Given the description of an element on the screen output the (x, y) to click on. 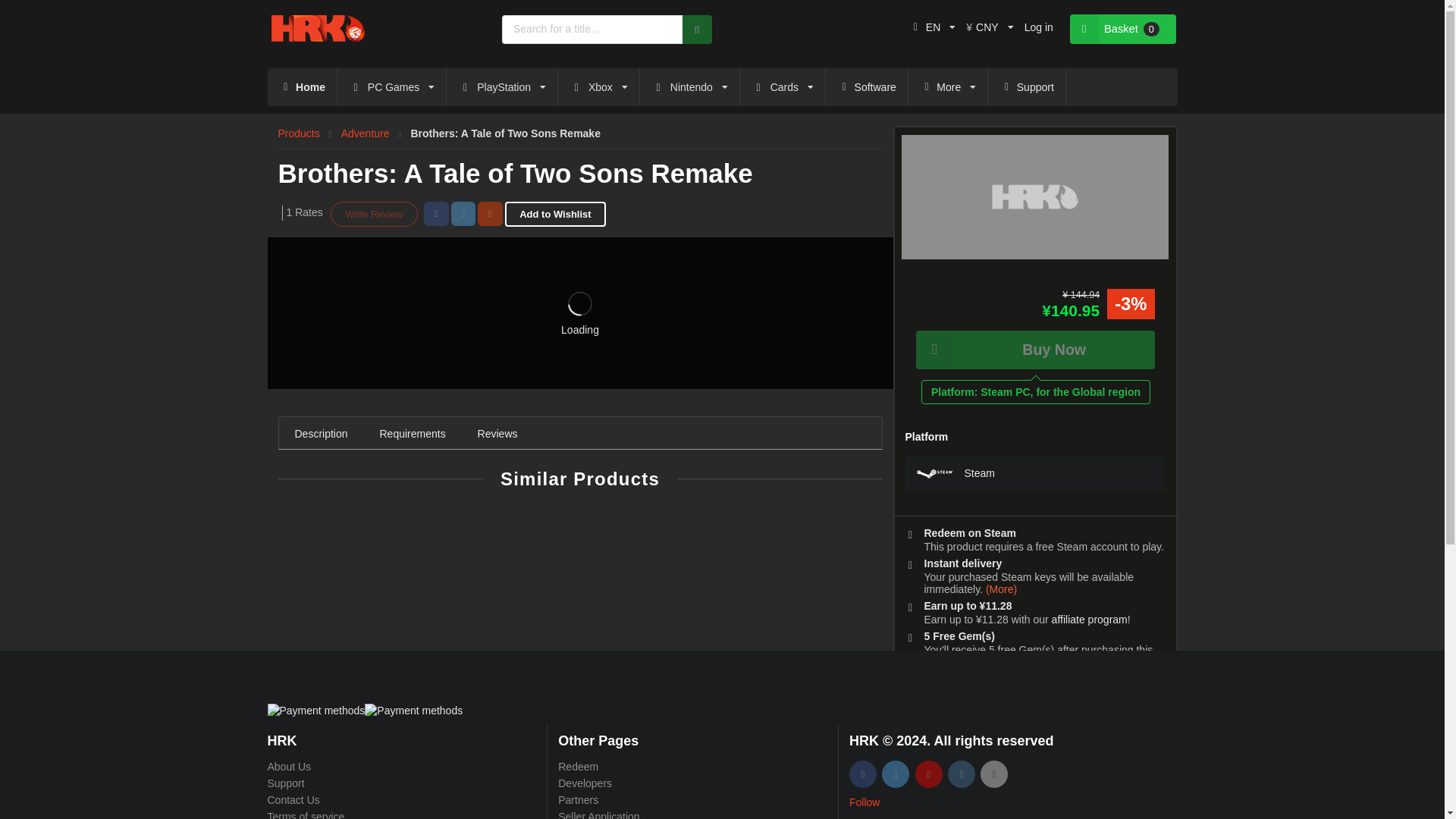
Buy Brothers: A Tale of Two Sons Remake for Steam PC (1034, 197)
Brothers: A Tale of Two Sons Remake on Steam PC (934, 473)
hrkgame.com (317, 28)
